Given the description of an element on the screen output the (x, y) to click on. 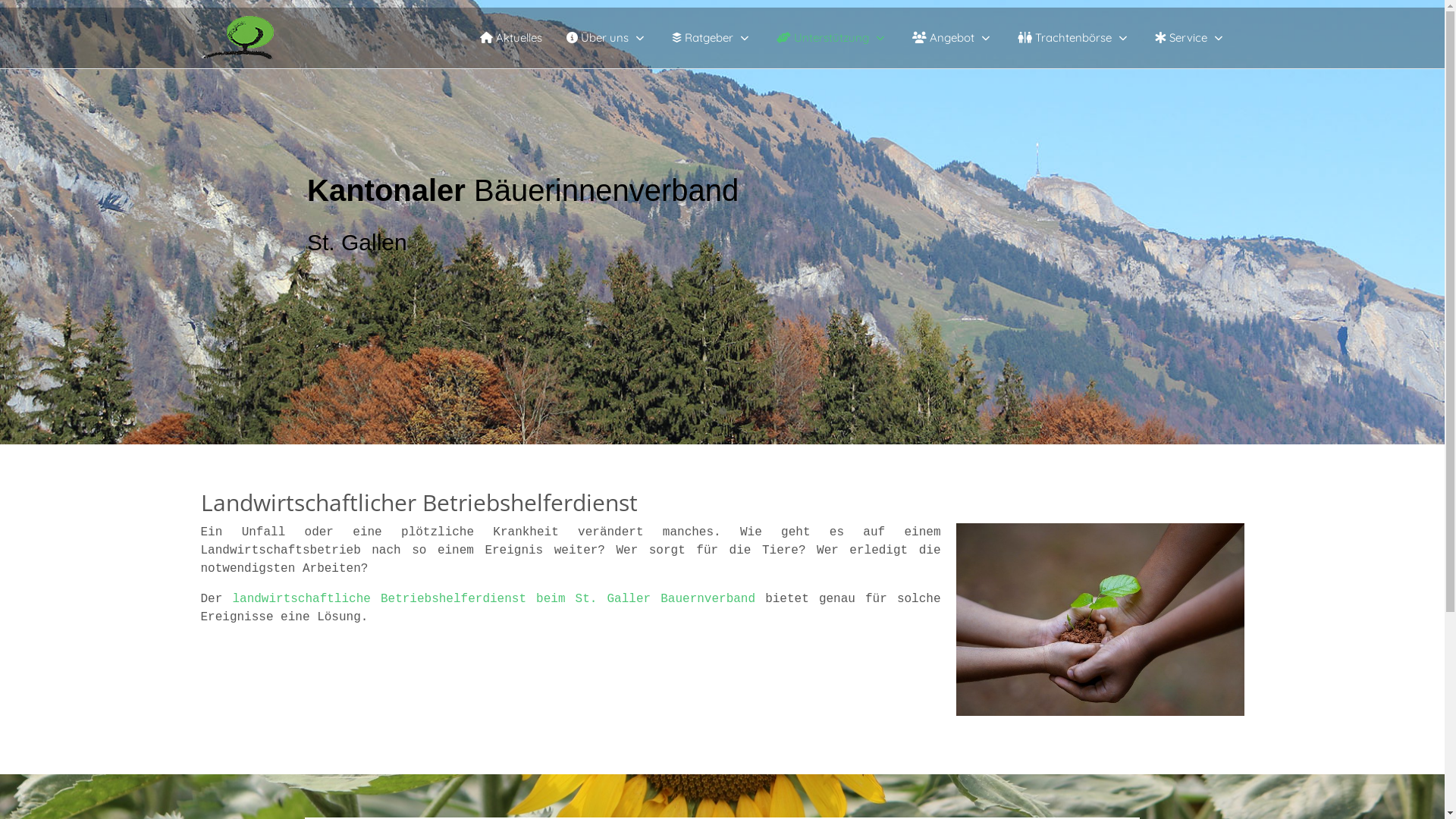
Angebot Element type: text (951, 37)
Ratgeber Element type: text (711, 37)
Service Element type: text (1189, 37)
Aktuelles Element type: text (510, 37)
